Given the description of an element on the screen output the (x, y) to click on. 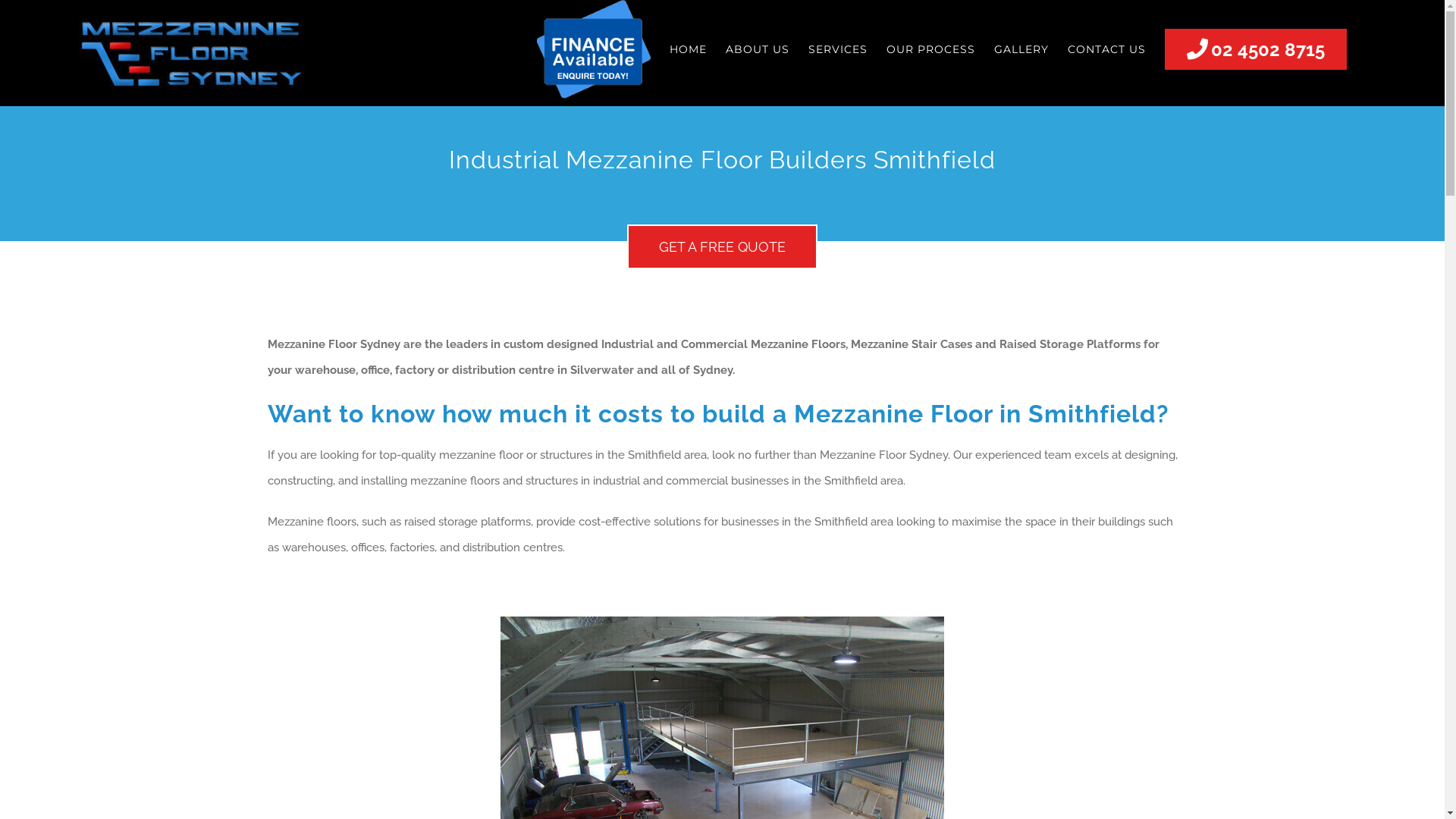
SERVICES Element type: text (837, 49)
 02 4502 8715 Element type: text (1255, 49)
HOME Element type: text (687, 49)
GET A FREE QUOTE Element type: text (722, 246)
ABOUT US Element type: text (757, 49)
CONTACT US Element type: text (1106, 49)
OUR PROCESS Element type: text (930, 49)
GALLERY Element type: text (1021, 49)
